Given the description of an element on the screen output the (x, y) to click on. 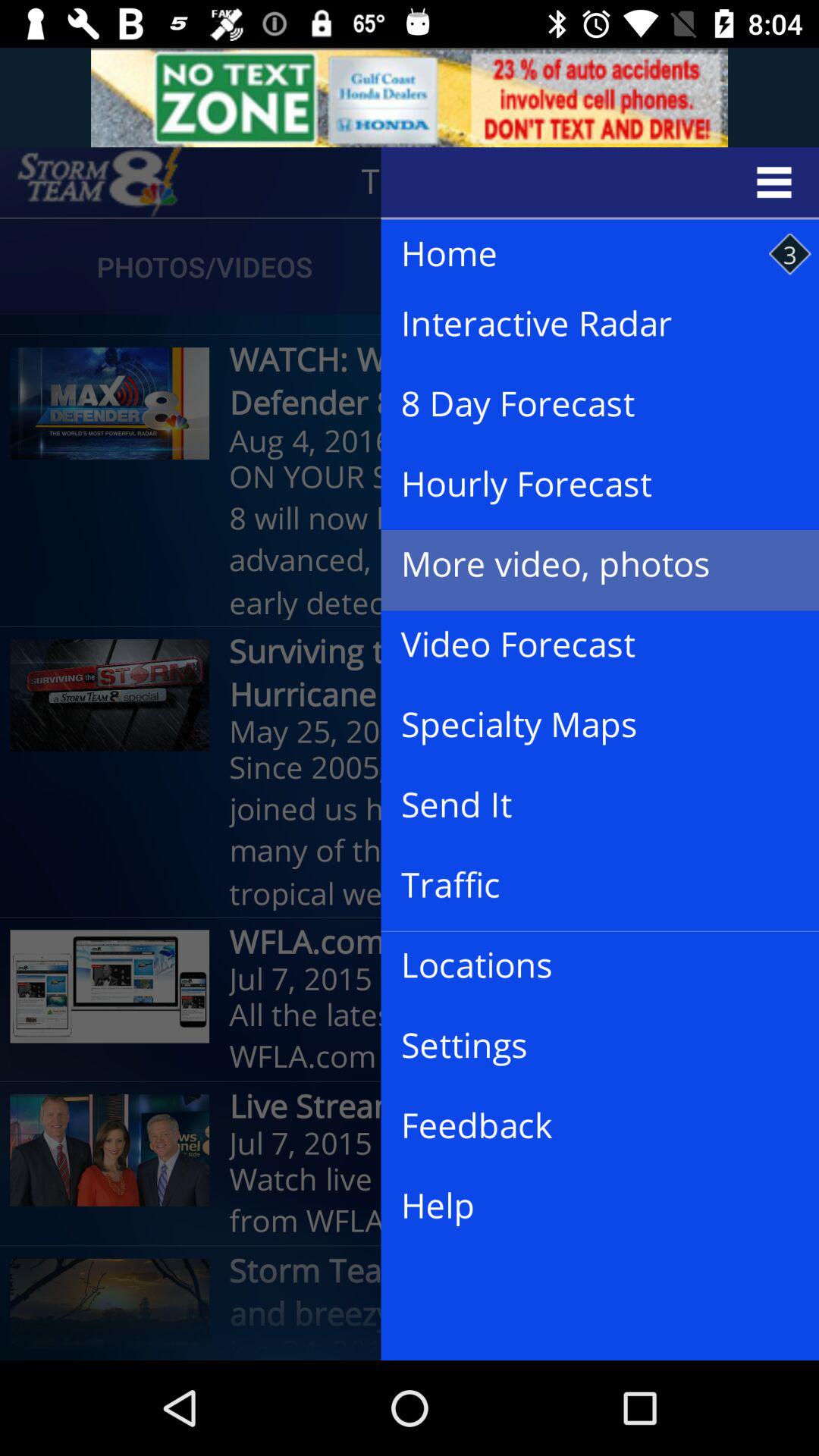
click on the max defender text image option (109, 403)
select the third image which is on the left corner of the page (109, 986)
